Given the description of an element on the screen output the (x, y) to click on. 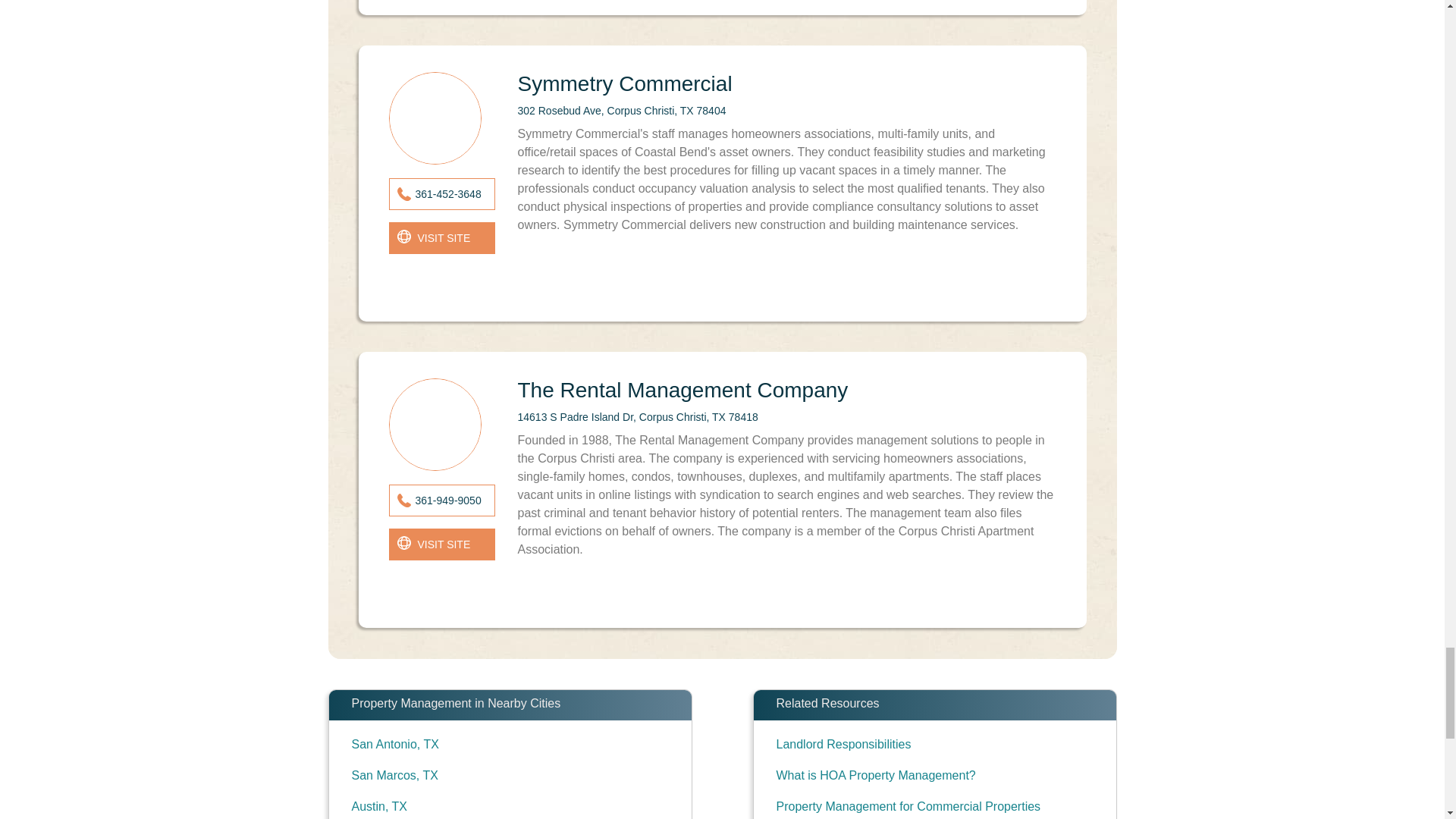
opens in a new window (441, 237)
opens in a new window (441, 544)
